Given the description of an element on the screen output the (x, y) to click on. 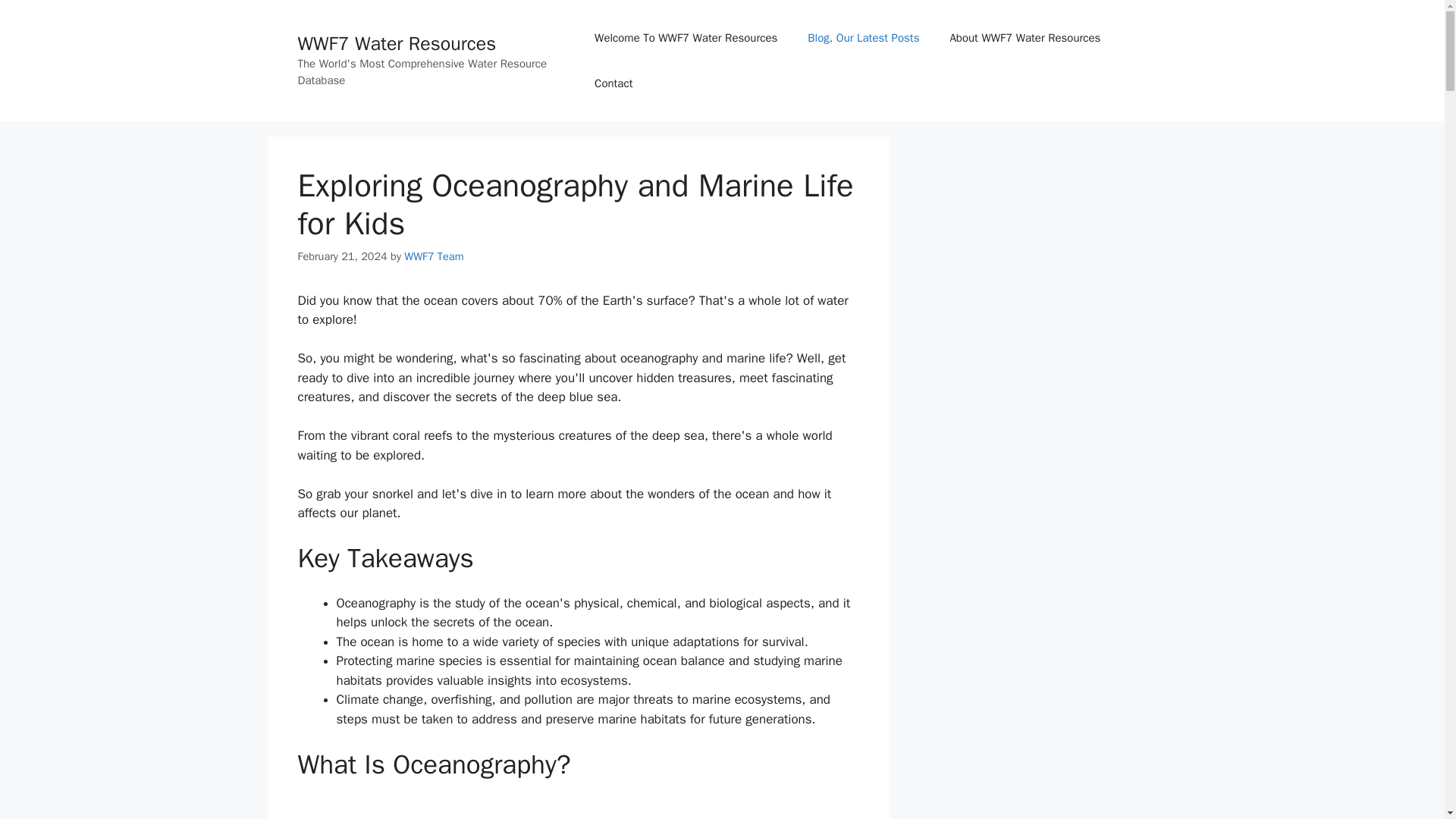
View all posts by WWF7 Team (433, 255)
YouTube video player (578, 809)
WWF7 Water Resources (396, 43)
Welcome To WWF7 Water Resources (685, 37)
Blog, Our Latest Posts (863, 37)
About WWF7 Water Resources (1024, 37)
WWF7 Team (433, 255)
Contact (613, 83)
